Given the description of an element on the screen output the (x, y) to click on. 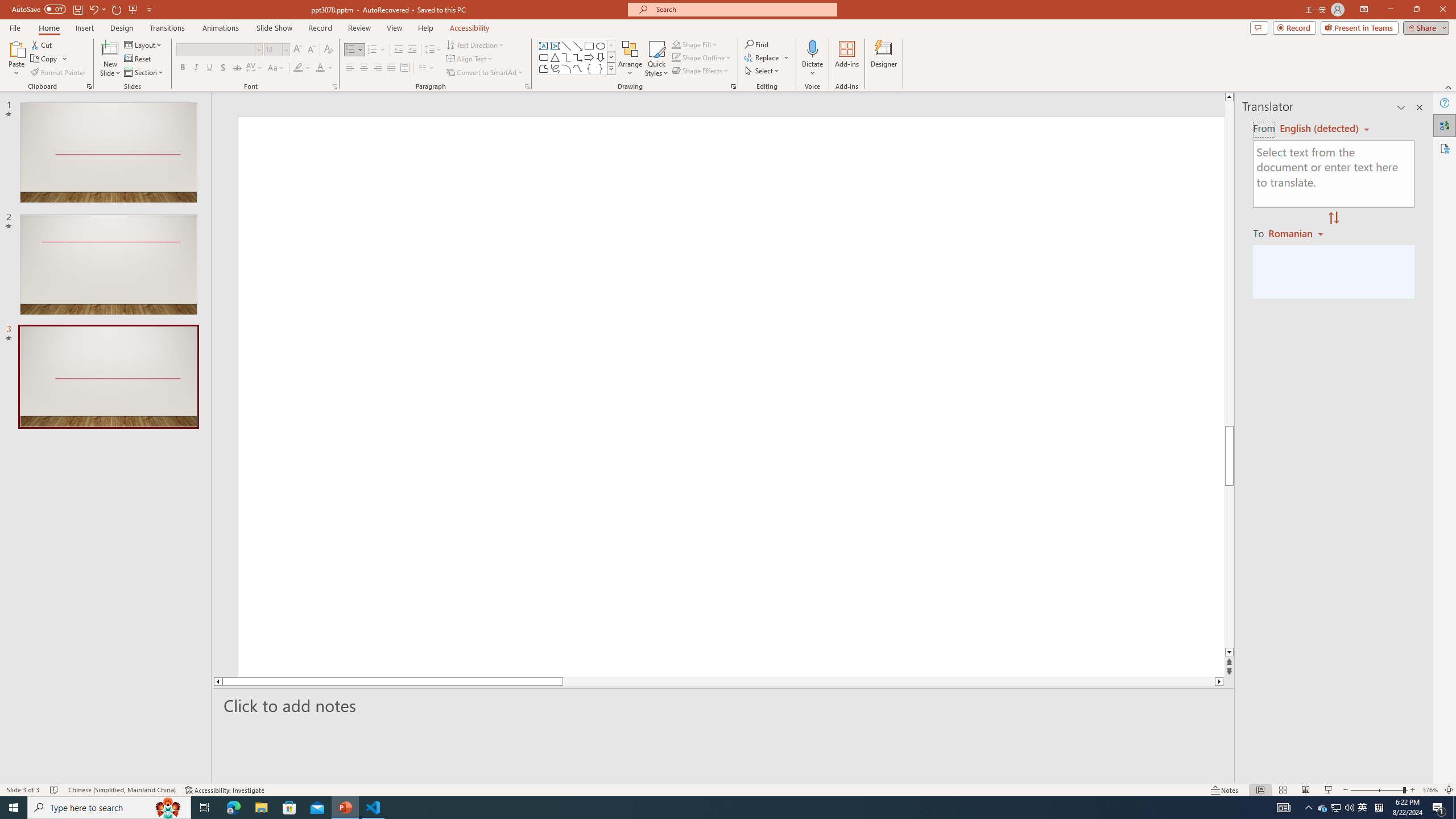
Shape Effects (700, 69)
